Given the description of an element on the screen output the (x, y) to click on. 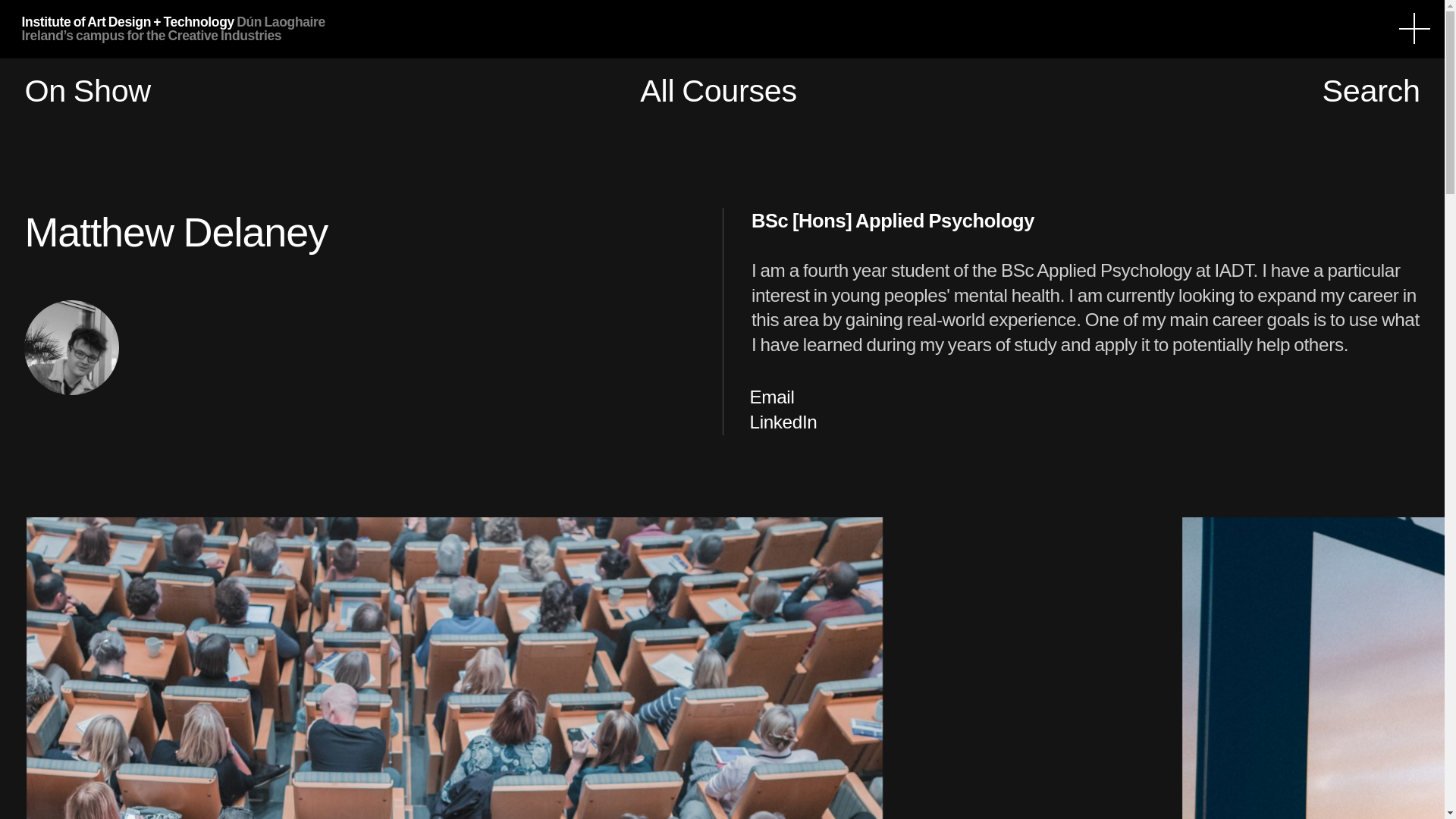
Matthew Delaney (71, 347)
